Given the description of an element on the screen output the (x, y) to click on. 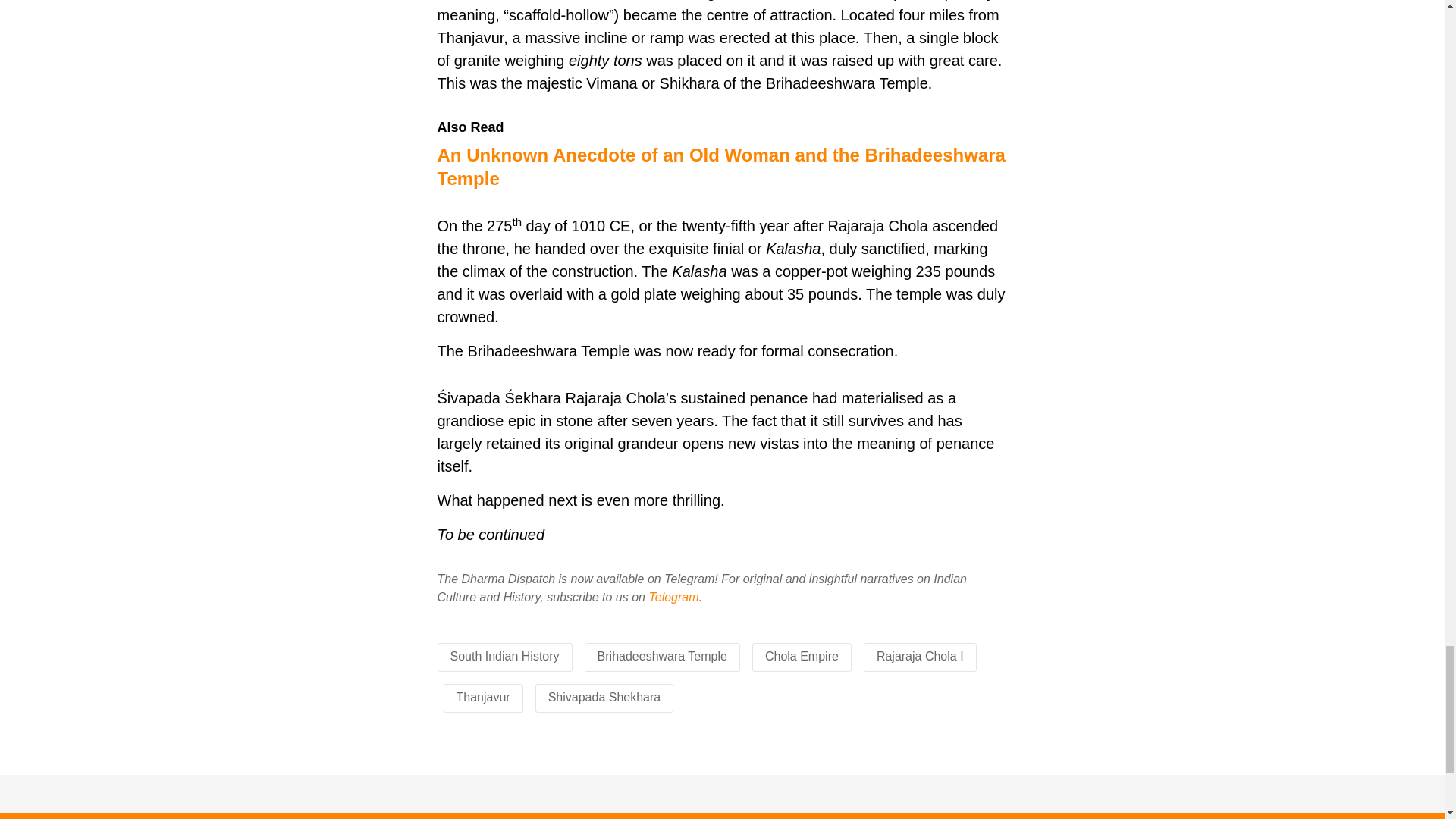
Thanjavur (484, 697)
Chola Empire (801, 656)
Brihadeeshwara Temple (661, 656)
Rajaraja Chola I (919, 656)
Shivapada Shekhara (604, 697)
South Indian History (504, 656)
Telegram (672, 596)
